Given the description of an element on the screen output the (x, y) to click on. 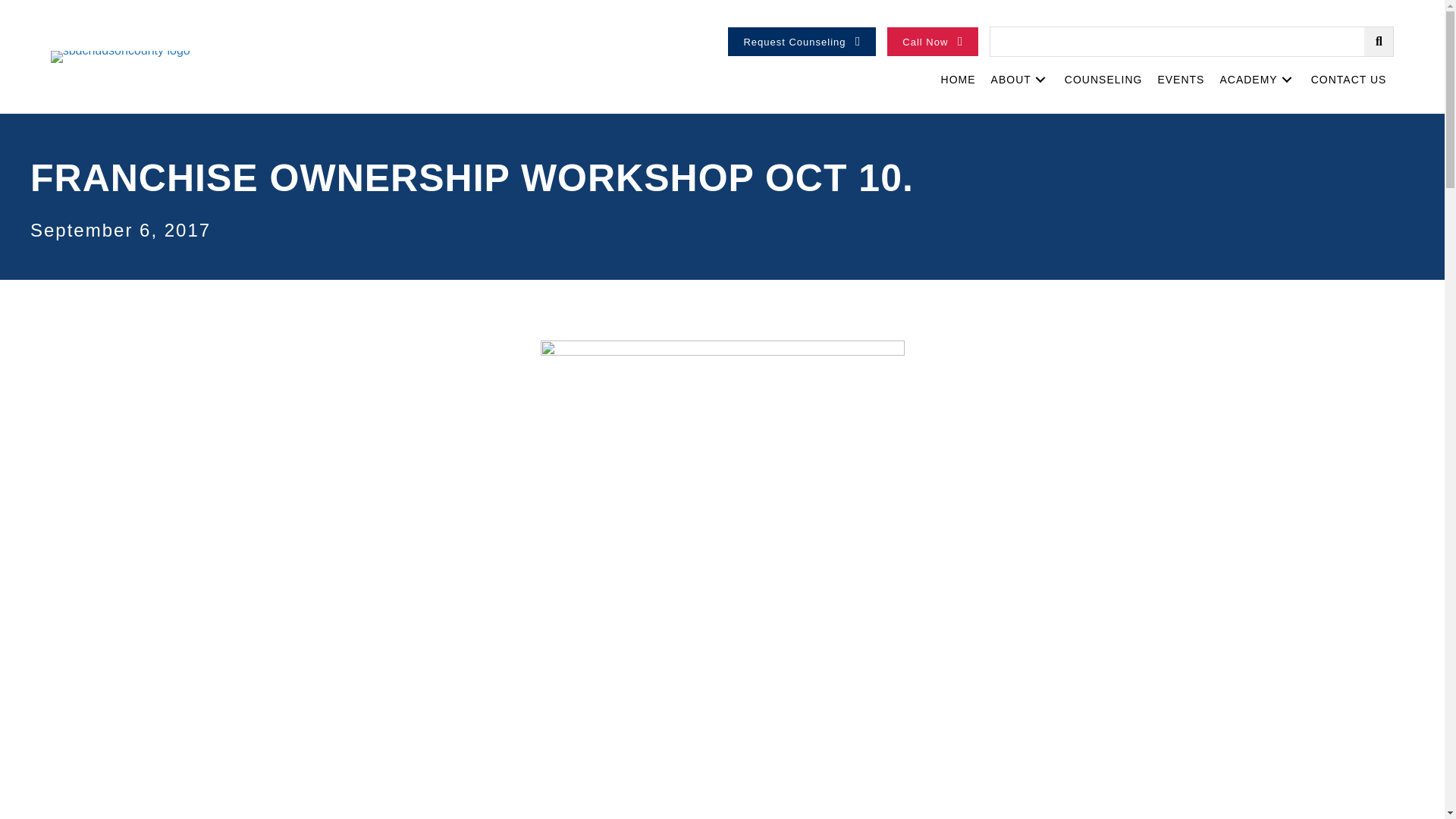
Call Now (932, 41)
favicon (120, 56)
Search (1177, 41)
Request Counseling (802, 41)
